Given the description of an element on the screen output the (x, y) to click on. 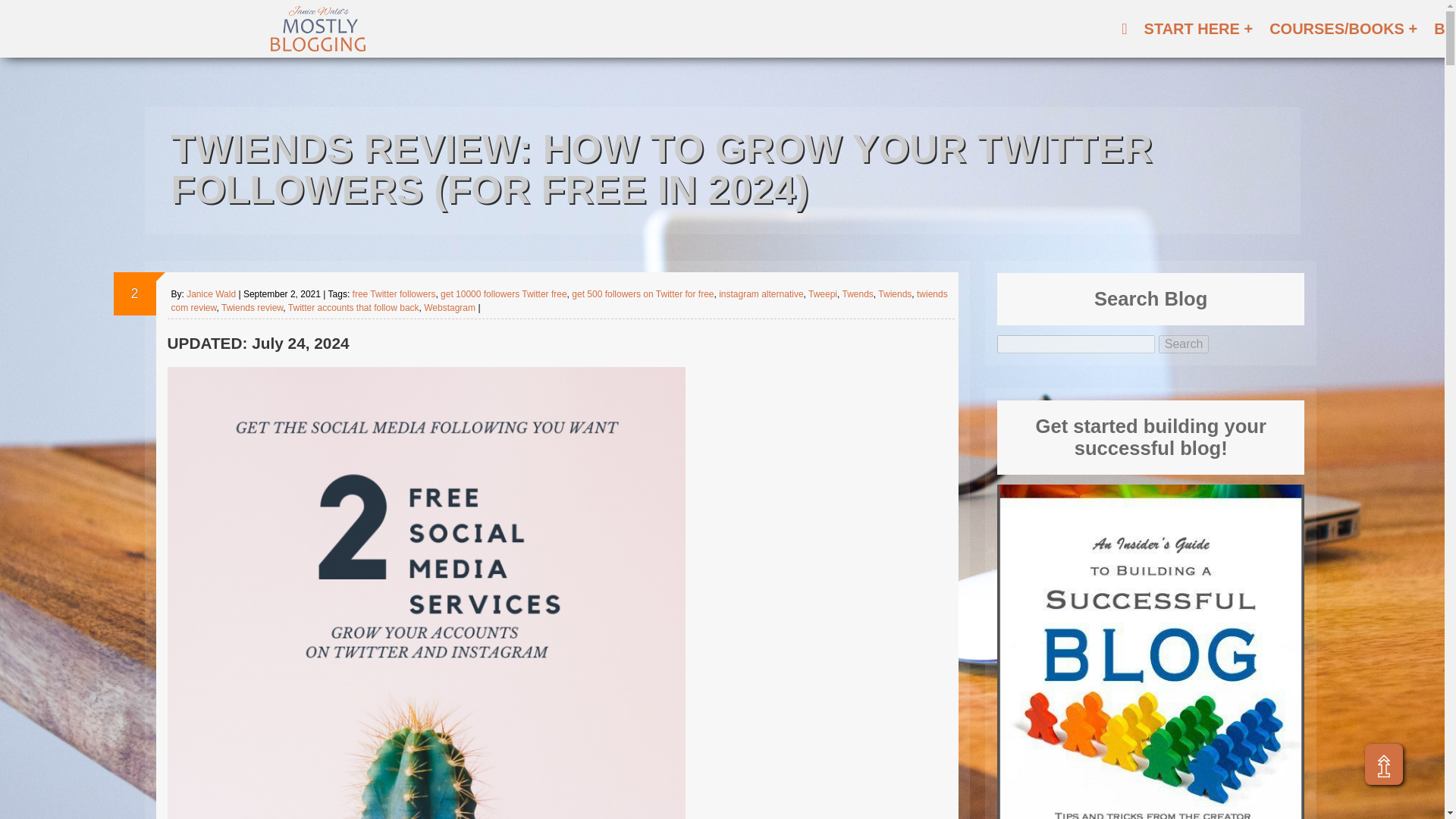
Search (1183, 343)
BLOG (1442, 28)
Posts by Janice Wald (210, 294)
